Given the description of an element on the screen output the (x, y) to click on. 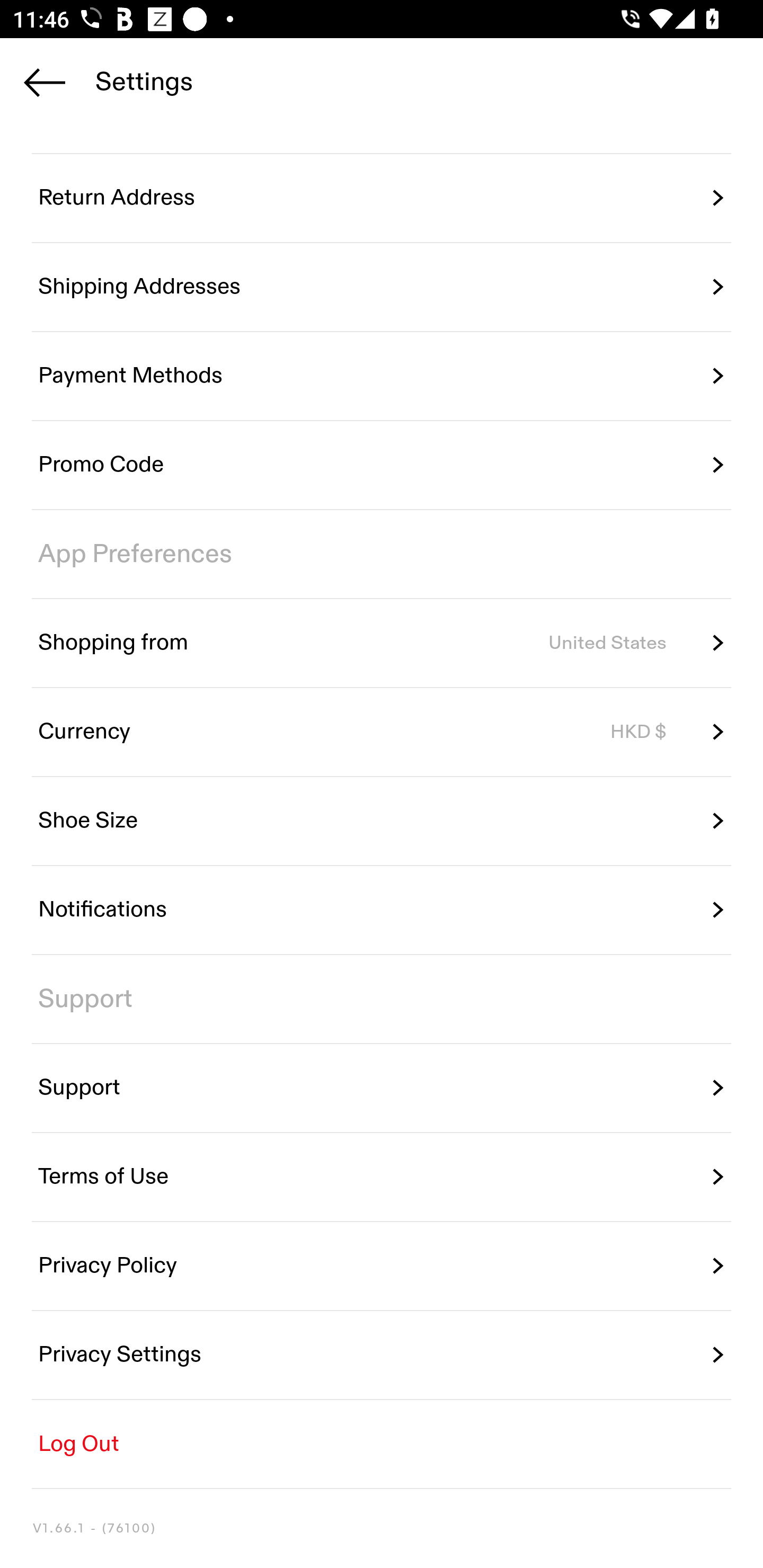
Navigate up (44, 82)
Return Address (381, 198)
Shipping Addresses (381, 286)
Payment Methods (381, 375)
Promo Code (381, 464)
Shopping from United States (381, 643)
Currency HKD $ (381, 732)
Shoe Size (381, 820)
Notifications (381, 909)
Support (381, 1088)
Terms of Use (381, 1176)
Privacy Policy (381, 1265)
Privacy Settings (381, 1355)
Log Out (381, 1444)
